Given the description of an element on the screen output the (x, y) to click on. 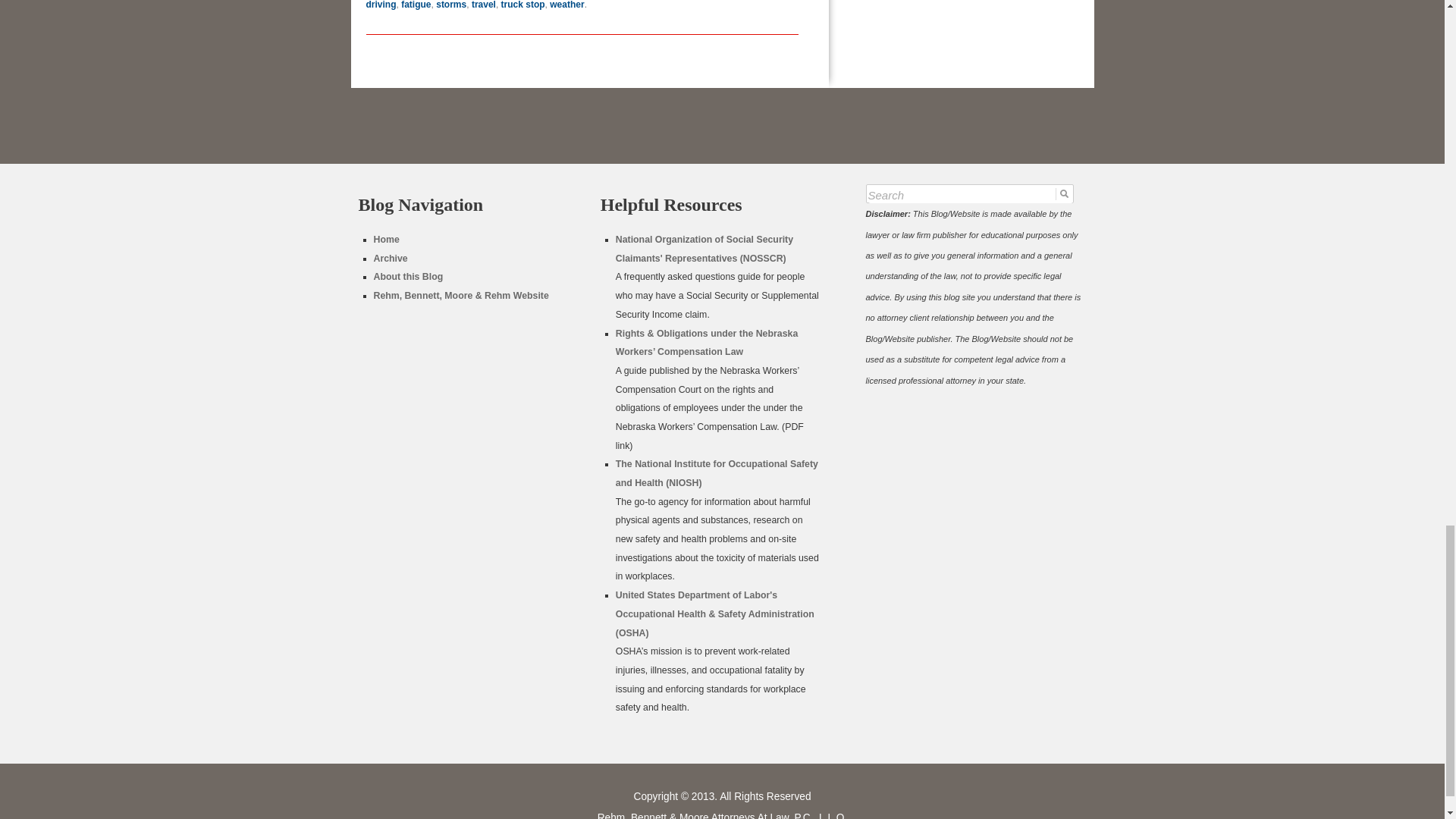
weather (566, 4)
storms (450, 4)
truck stop (522, 4)
travel (483, 4)
Search (969, 196)
fatigue (415, 4)
driving (380, 4)
